Given the description of an element on the screen output the (x, y) to click on. 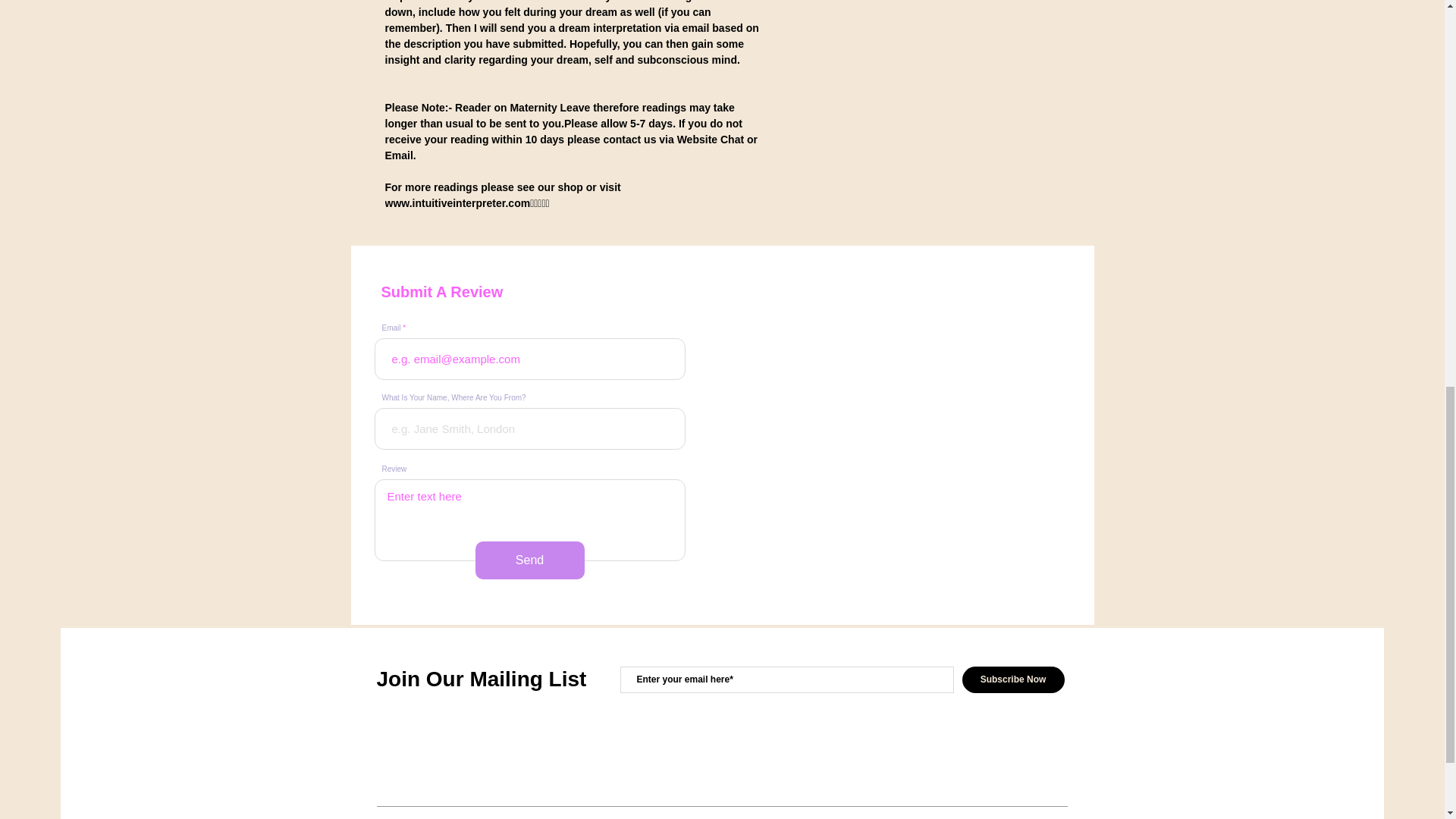
Subscribe Now (1012, 679)
e.g. Jane Smith, London (529, 428)
Send (528, 560)
Shipping Info (924, 1)
